Given the description of an element on the screen output the (x, y) to click on. 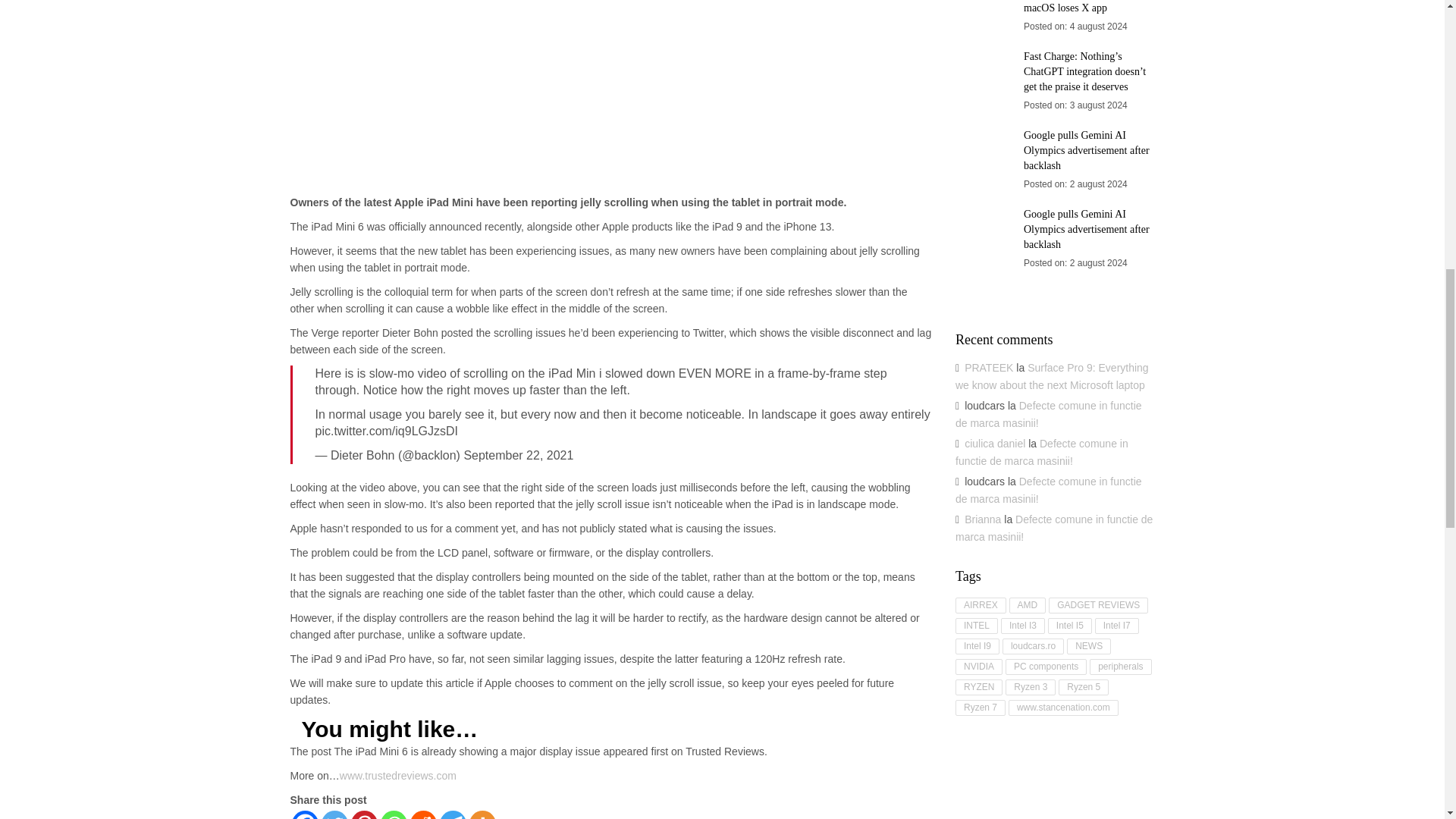
www.trustedreviews.com (398, 775)
